Given the description of an element on the screen output the (x, y) to click on. 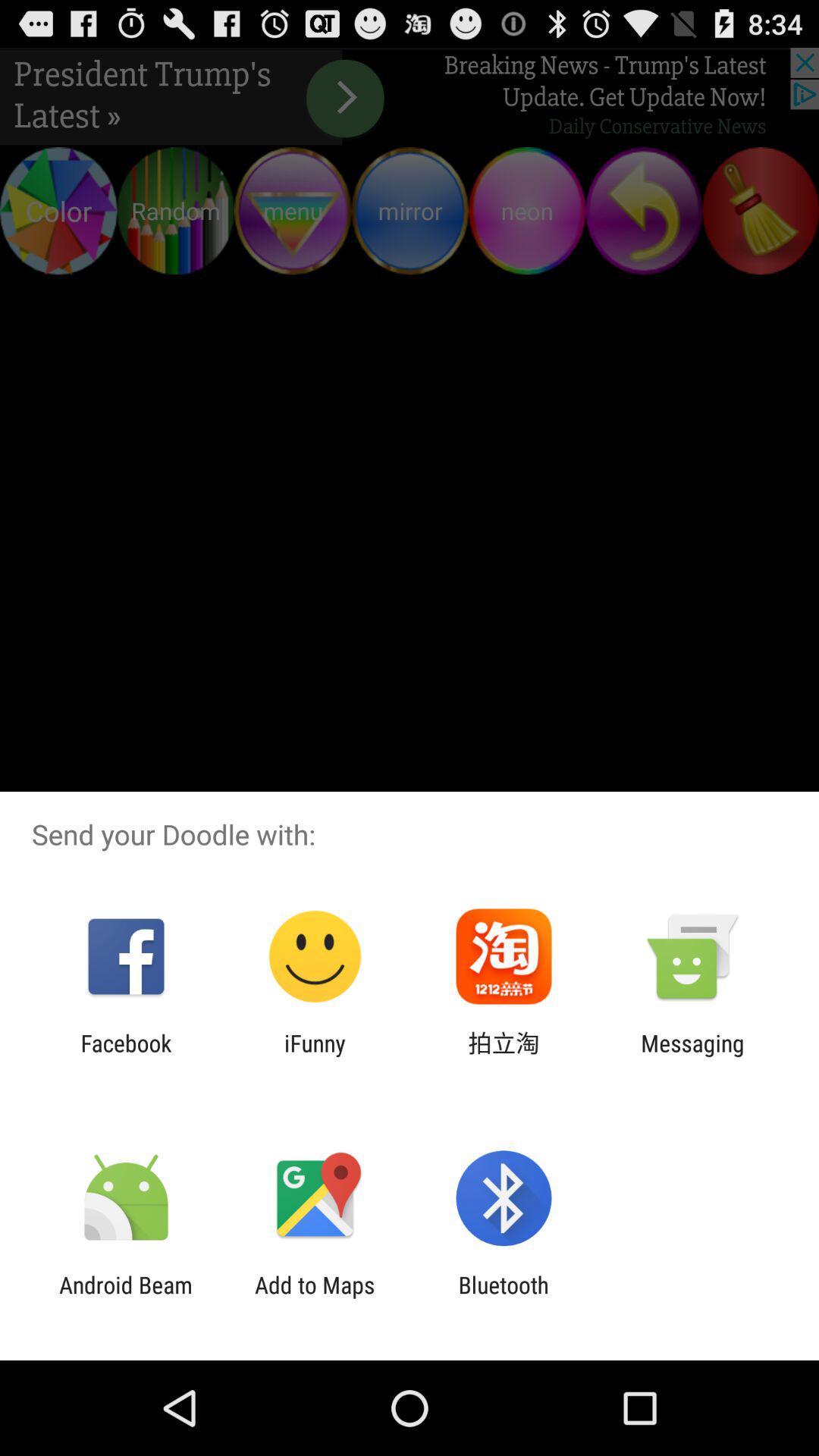
click app to the left of ifunny icon (125, 1056)
